Given the description of an element on the screen output the (x, y) to click on. 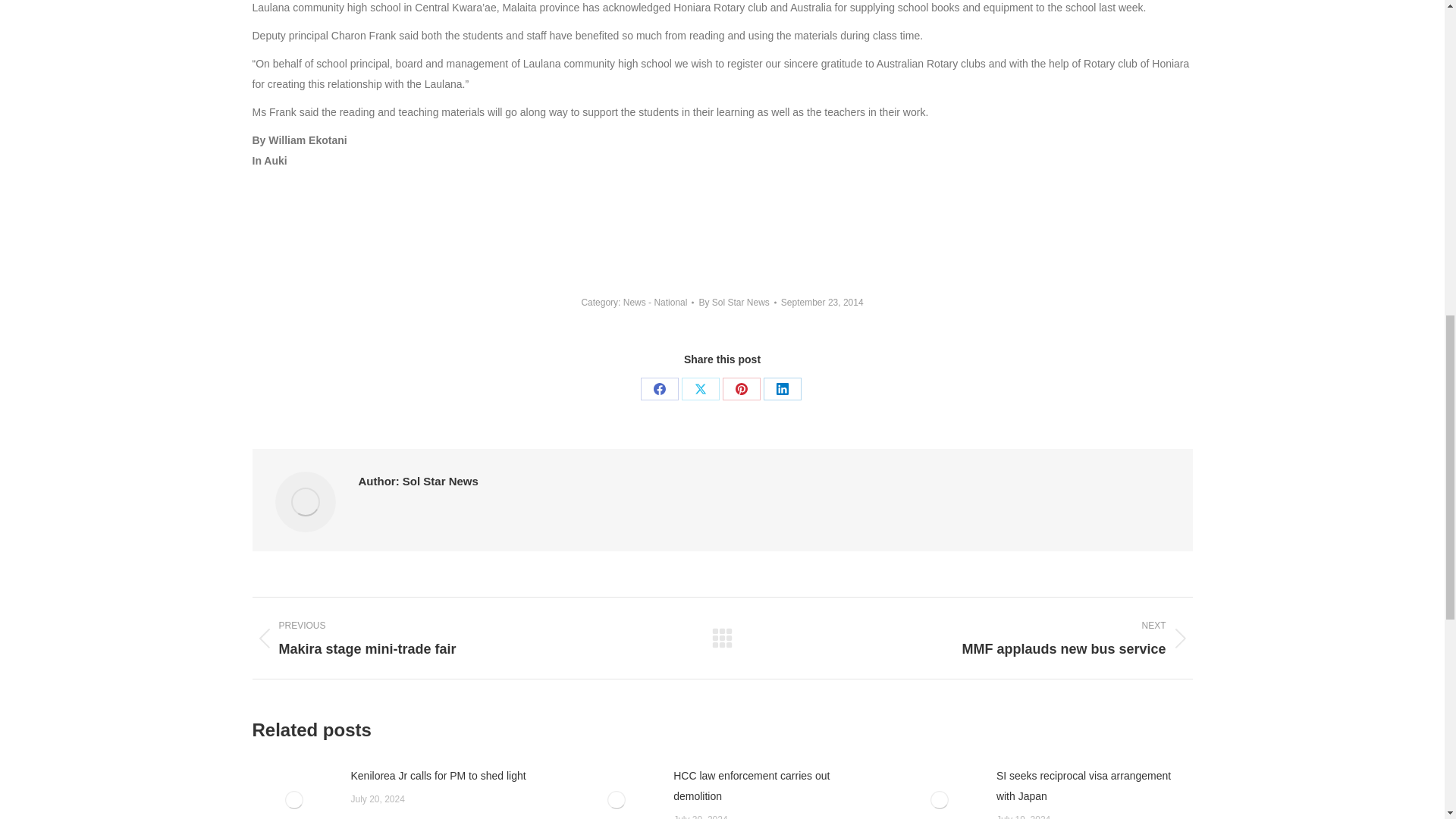
12:05 am (821, 302)
View all posts by Sol Star News (737, 302)
